Given the description of an element on the screen output the (x, y) to click on. 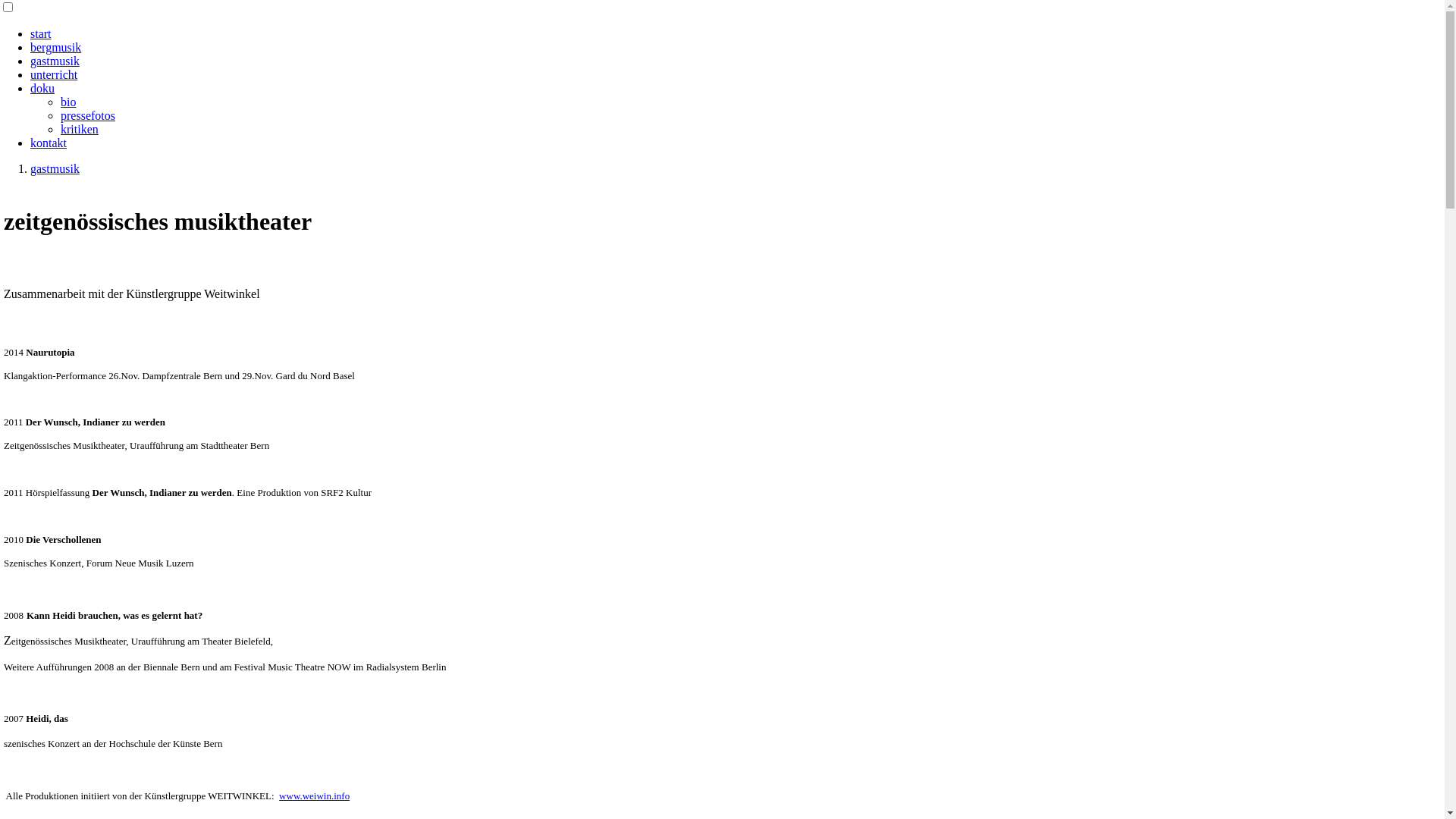
bergmusik Element type: text (55, 46)
www.weiwin.info Element type: text (314, 795)
gastmusik Element type: text (54, 60)
pressefotos Element type: text (87, 115)
unterricht Element type: text (53, 74)
gastmusik Element type: text (54, 168)
start Element type: text (40, 33)
kontakt Element type: text (48, 142)
bio Element type: text (67, 101)
doku Element type: text (42, 87)
kritiken Element type: text (79, 128)
